Given the description of an element on the screen output the (x, y) to click on. 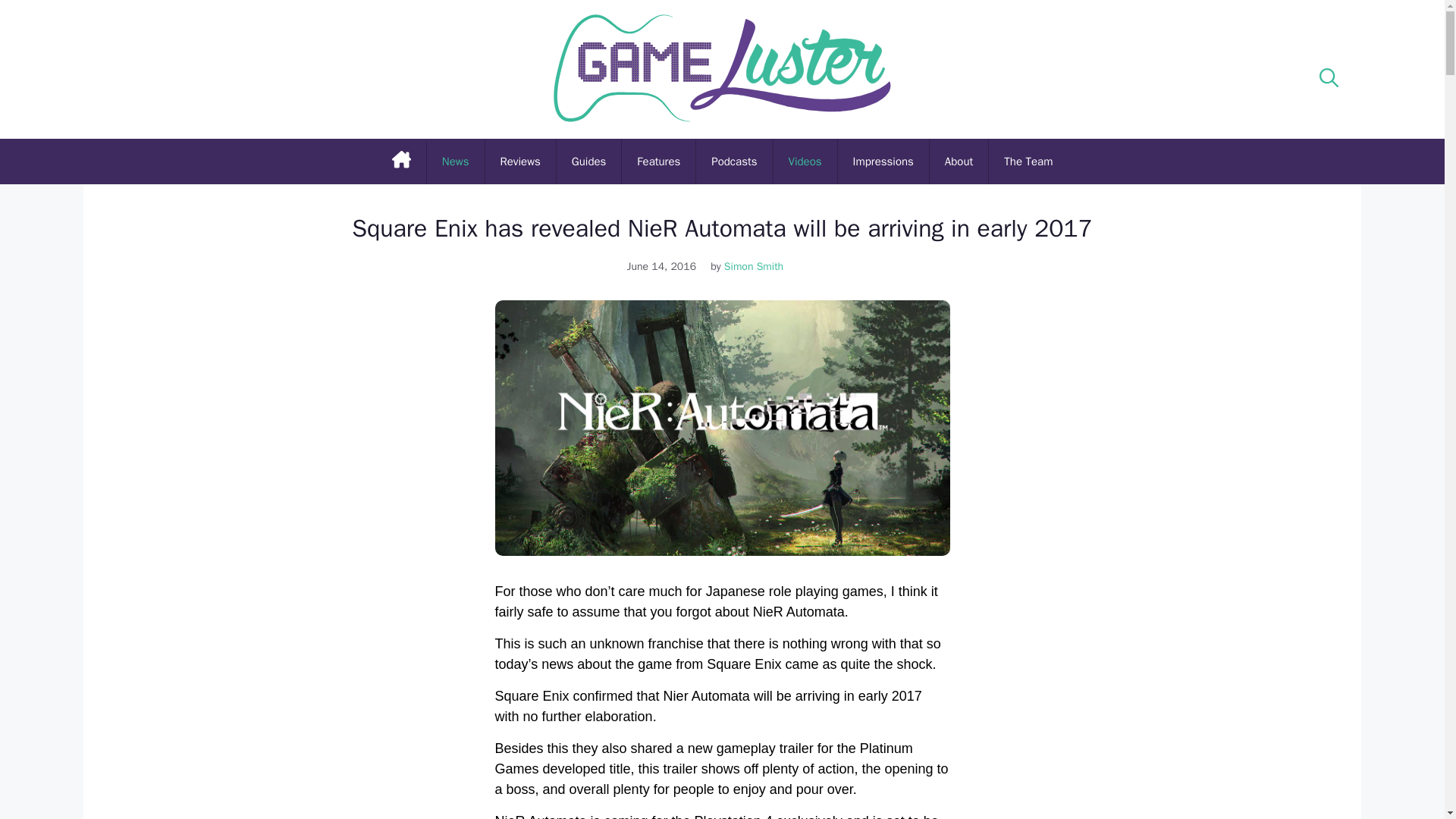
News (455, 160)
The Team (1027, 160)
Videos (805, 160)
View all posts by Simon Smith (758, 266)
About (959, 160)
Simon Smith (758, 266)
Reviews (520, 160)
Guides (588, 160)
Features (658, 160)
Podcasts (733, 160)
